Given the description of an element on the screen output the (x, y) to click on. 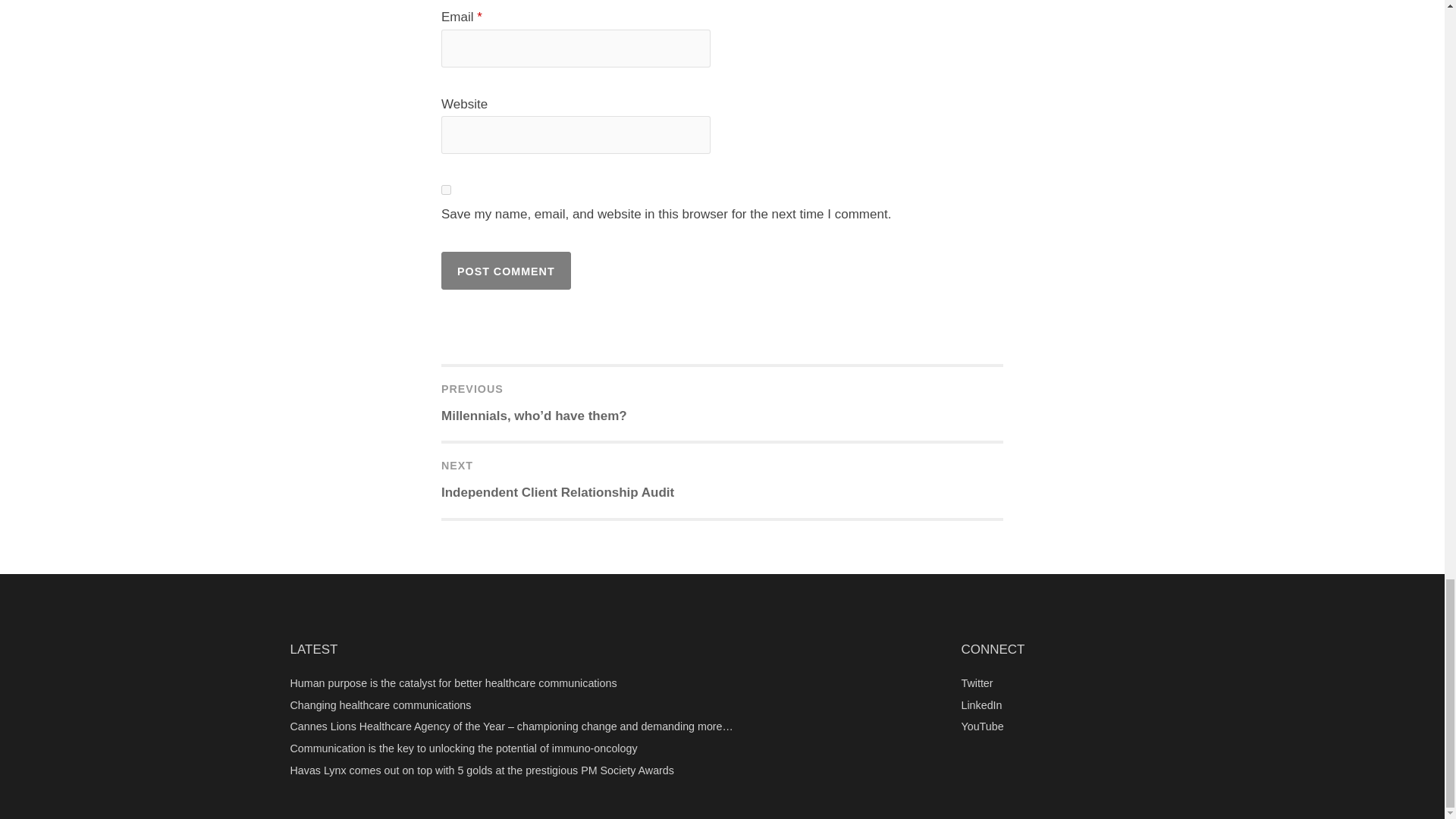
Changing healthcare communications (722, 480)
Post Comment (379, 705)
Post Comment (505, 270)
yes (505, 270)
